Given the description of an element on the screen output the (x, y) to click on. 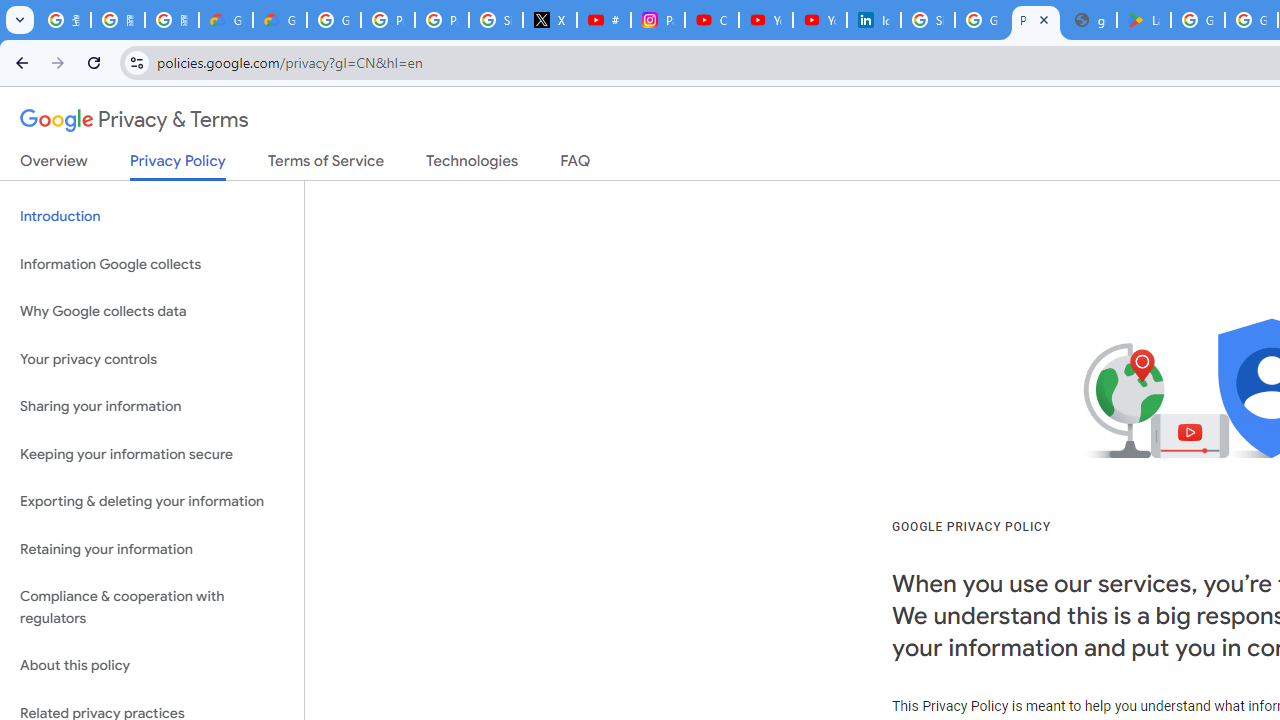
Google Cloud Privacy Notice (225, 20)
Information Google collects (152, 263)
YouTube Culture & Trends - YouTube Top 10, 2021 (819, 20)
Your privacy controls (152, 358)
#nbabasketballhighlights - YouTube (604, 20)
Keeping your information secure (152, 453)
